Given the description of an element on the screen output the (x, y) to click on. 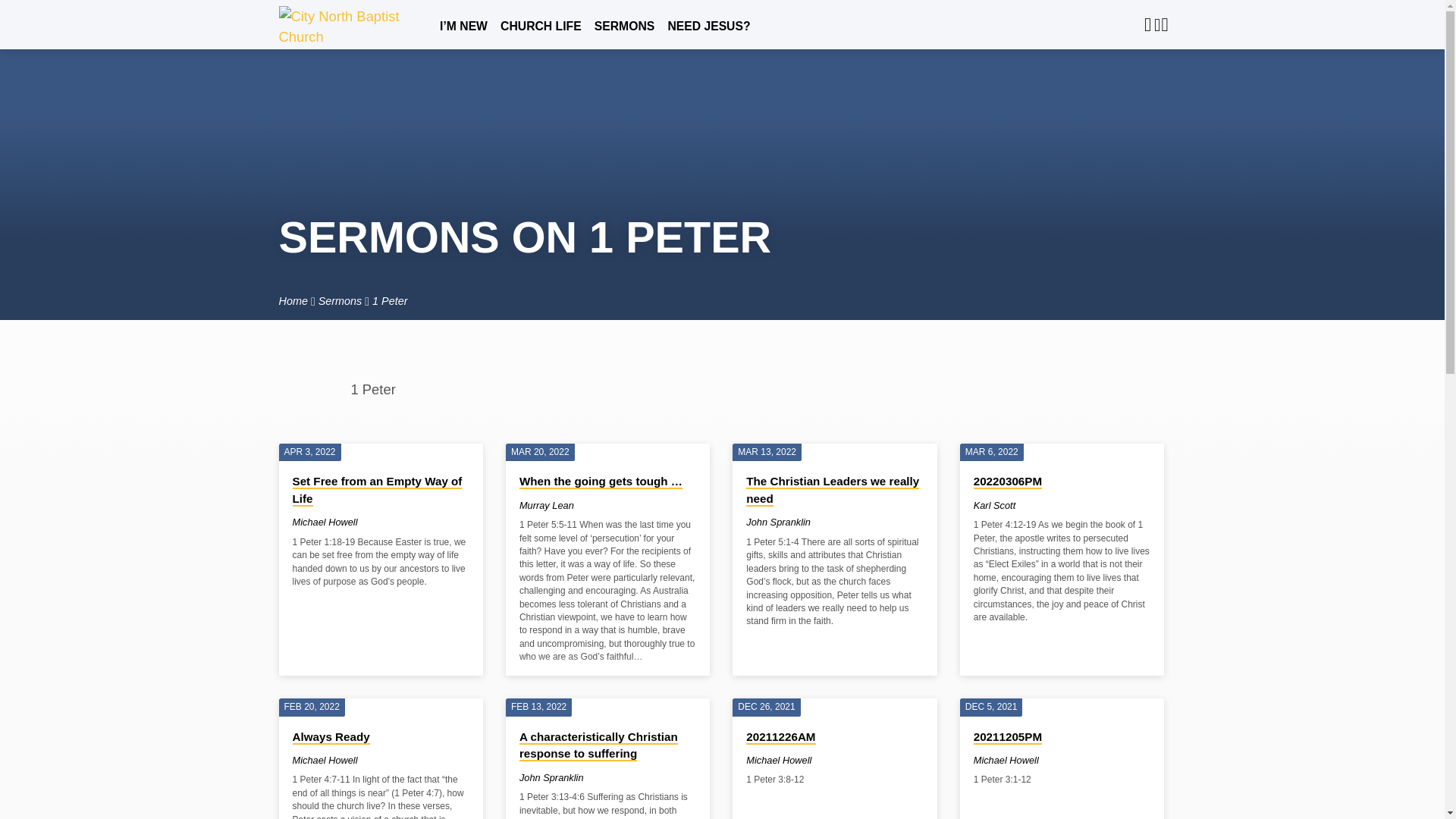
Murray Lean (546, 505)
Home (293, 300)
Set Free from an Empty Way of Life (377, 490)
Sermons (340, 300)
CHURCH LIFE (540, 34)
NEED JESUS? (707, 34)
Michael Howell (325, 521)
The Christian Leaders we really need (831, 490)
SERMONS (623, 34)
1 Peter (389, 300)
